Given the description of an element on the screen output the (x, y) to click on. 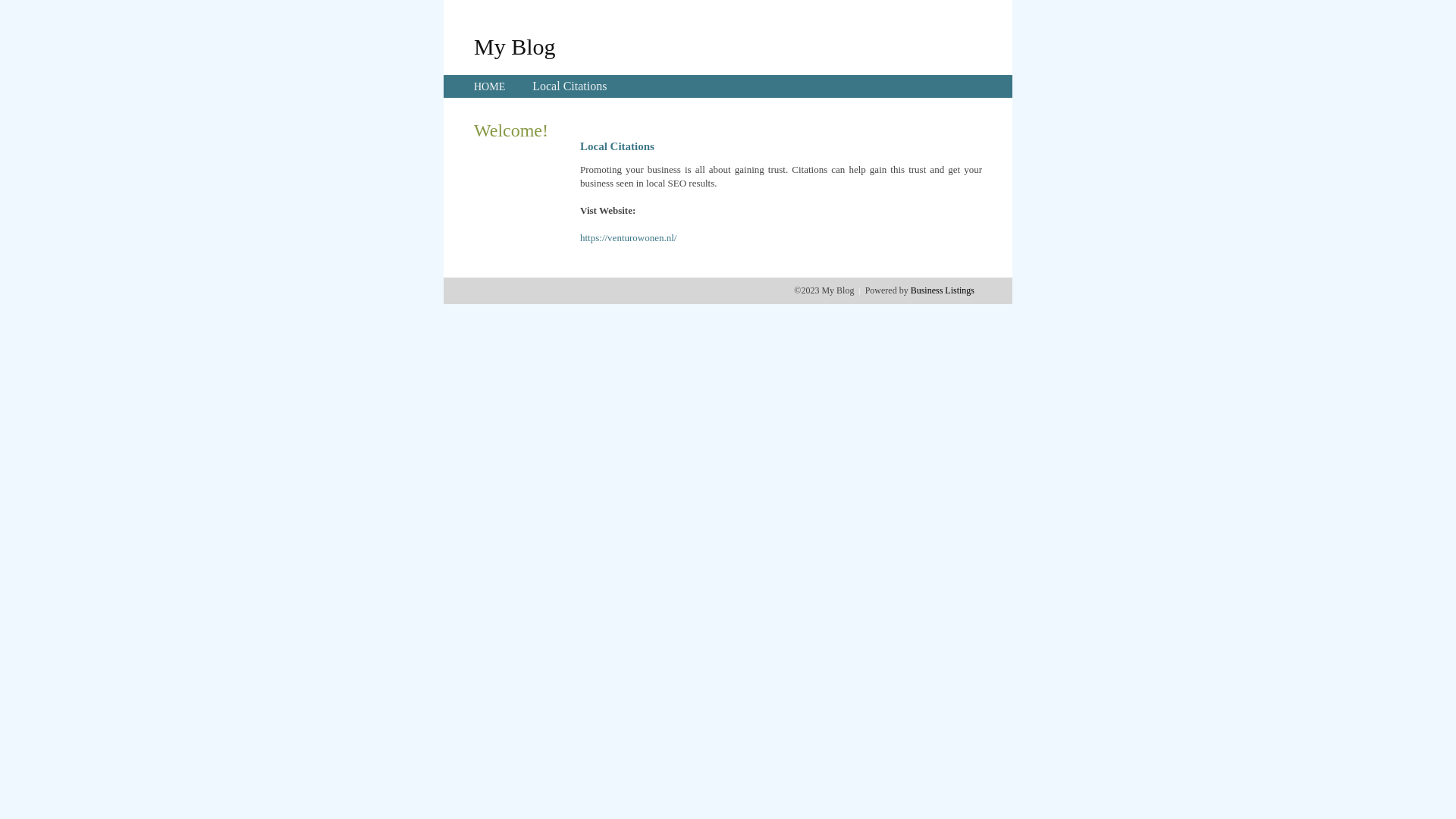
Local Citations Element type: text (569, 85)
HOME Element type: text (489, 86)
My Blog Element type: text (514, 46)
https://venturowonen.nl/ Element type: text (628, 237)
Business Listings Element type: text (942, 290)
